Given the description of an element on the screen output the (x, y) to click on. 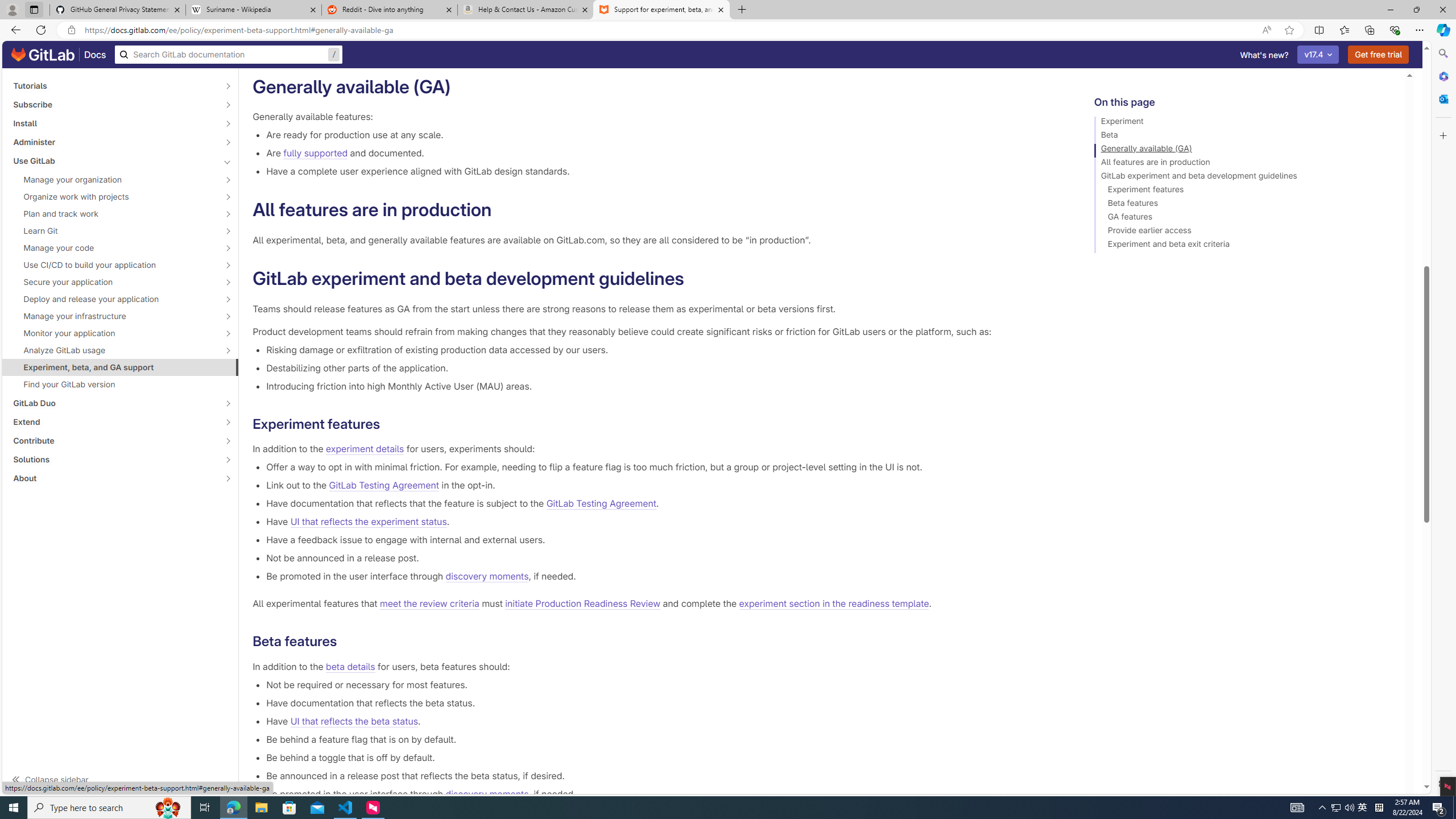
Be behind a toggle that is off by default. (662, 757)
Experiment and beta exit criteria (1244, 246)
Subscribe (113, 104)
Provide earlier access (1244, 232)
Beta features (1244, 205)
UI that reflects the experiment status (367, 521)
beta details (350, 666)
Are fully supported and documented. (662, 152)
Destabilizing other parts of the application. (662, 367)
